Given the description of an element on the screen output the (x, y) to click on. 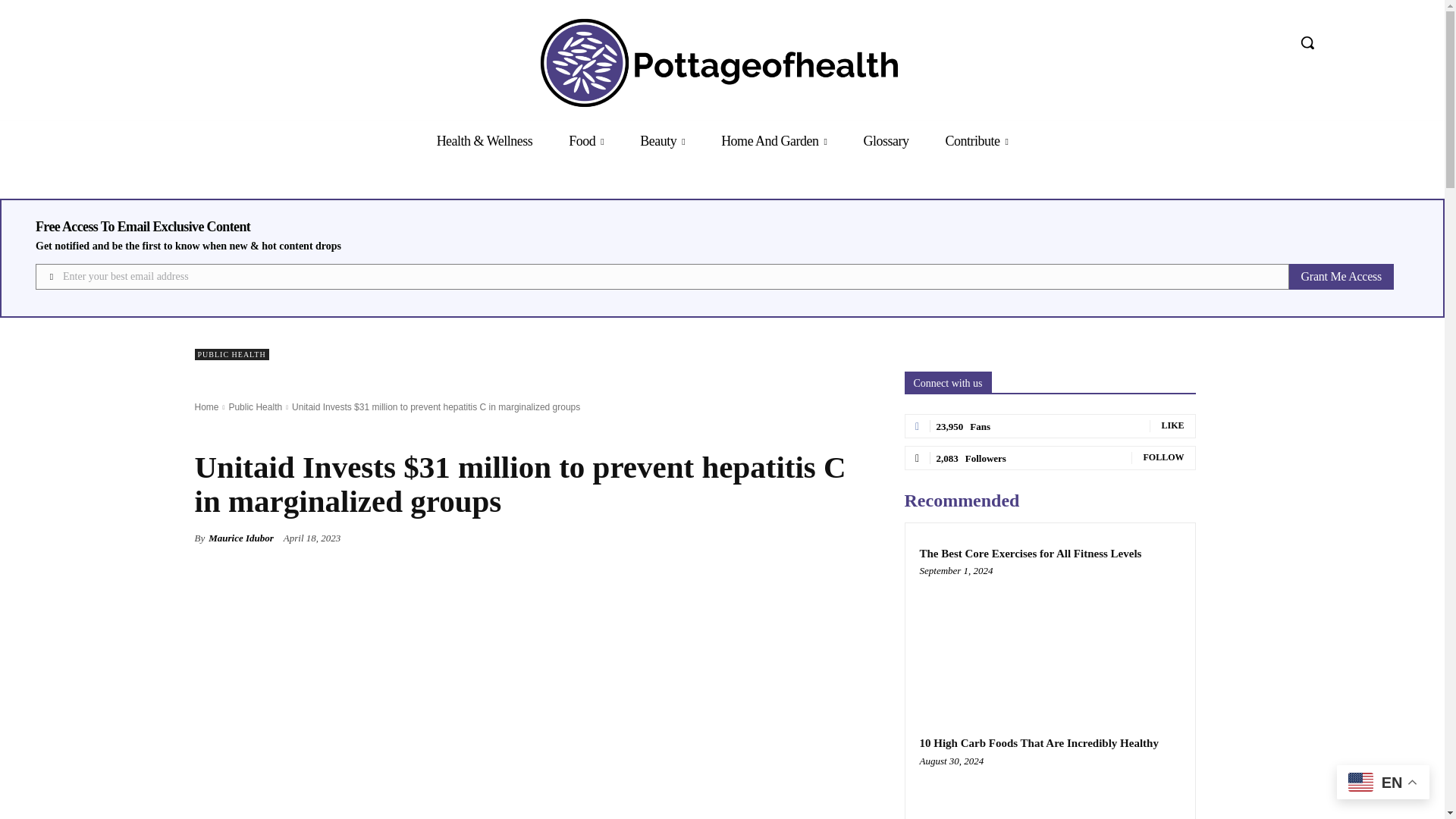
Glossary (885, 141)
Food (585, 141)
Beauty (662, 141)
Home And Garden (773, 141)
View all posts in Public Health (255, 407)
Contribute (976, 141)
